Given the description of an element on the screen output the (x, y) to click on. 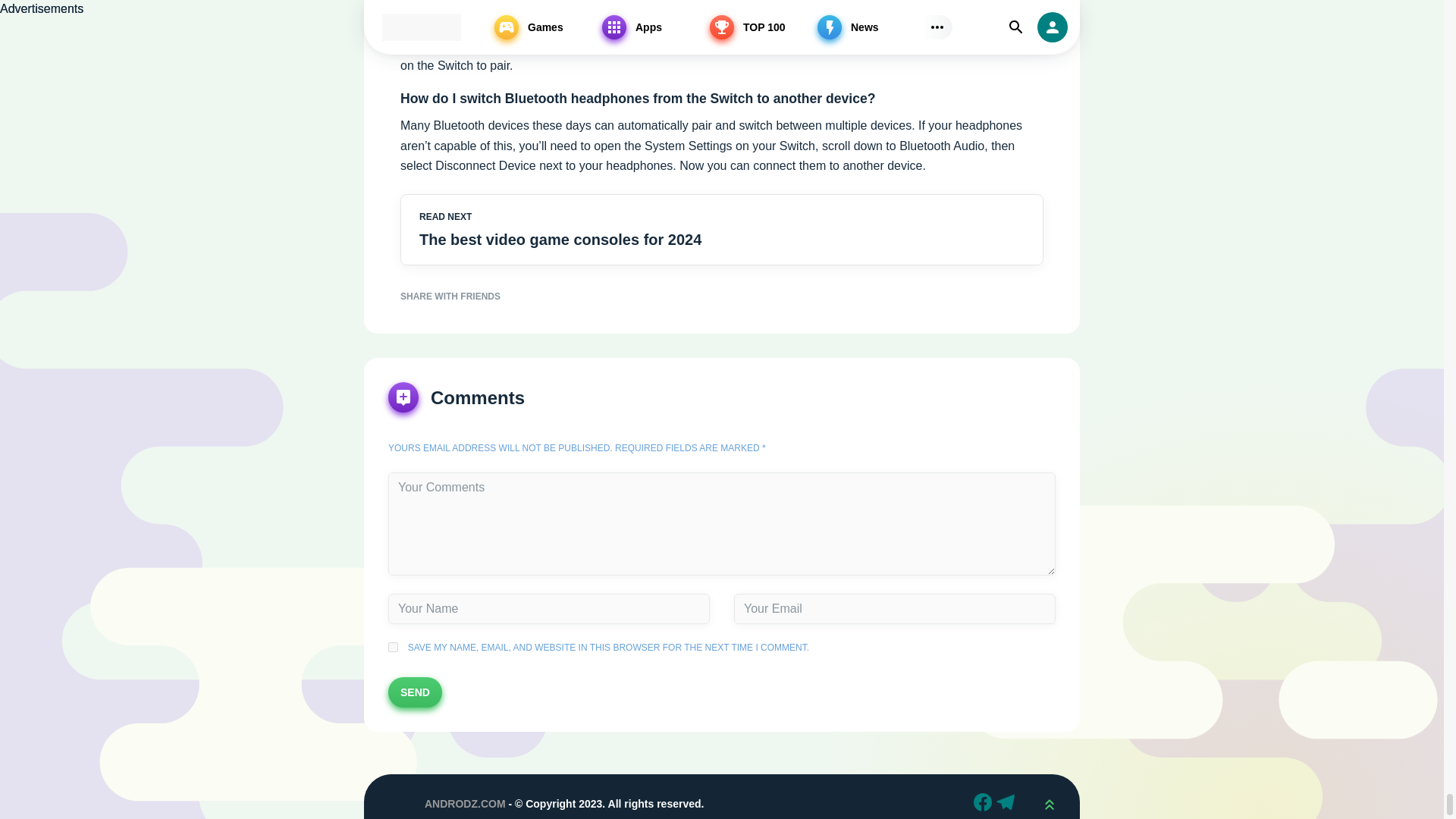
androdz.com (393, 802)
Scroll up (1048, 802)
SEND (415, 692)
yes (392, 646)
The best video game consoles for 2024 (637, 239)
Scroll up (1048, 802)
androdz.com (393, 802)
ANDRODZ.COM (465, 803)
